Given the description of an element on the screen output the (x, y) to click on. 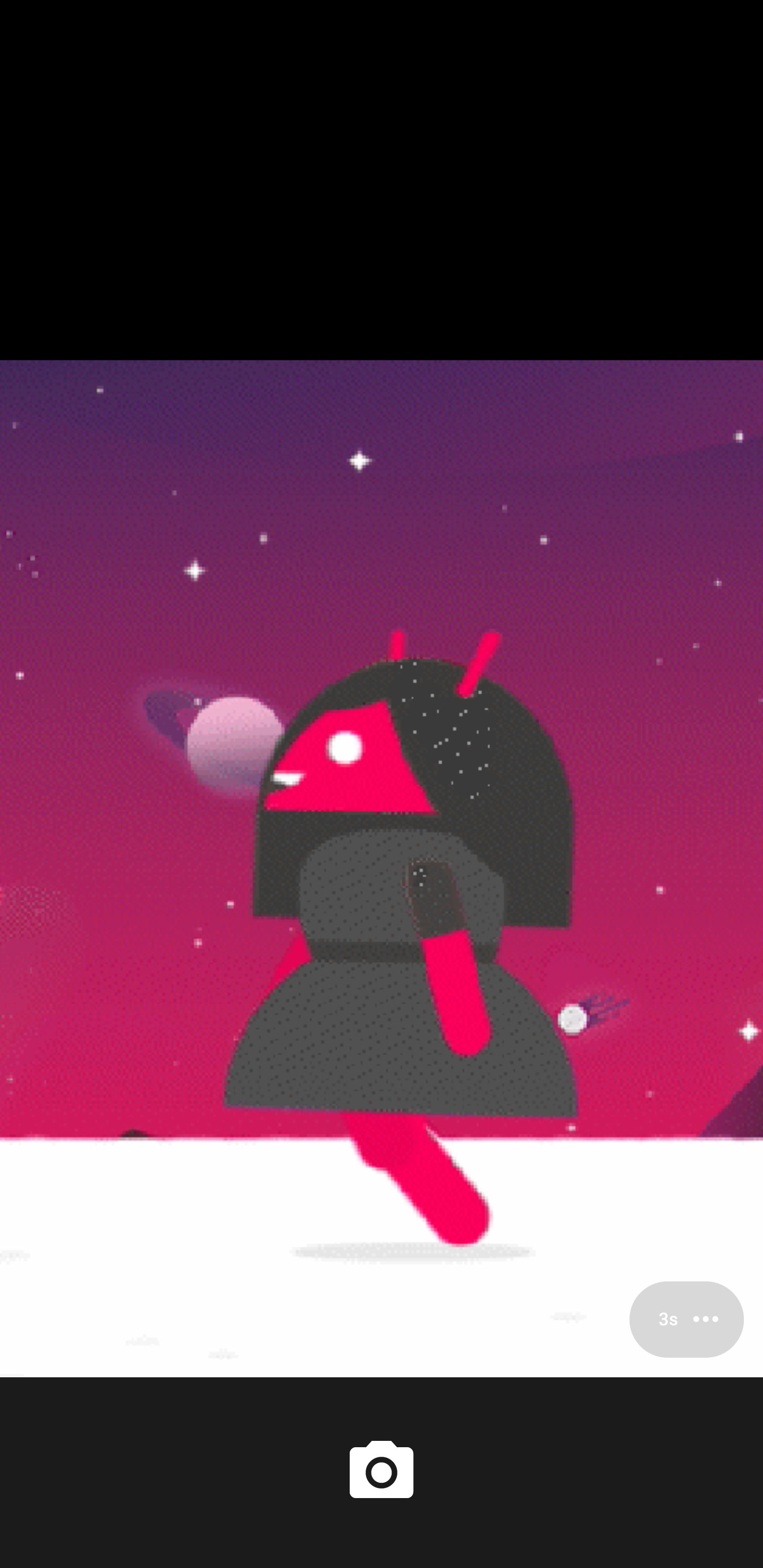
Options (686, 1319)
Shutter (381, 1472)
